Given the description of an element on the screen output the (x, y) to click on. 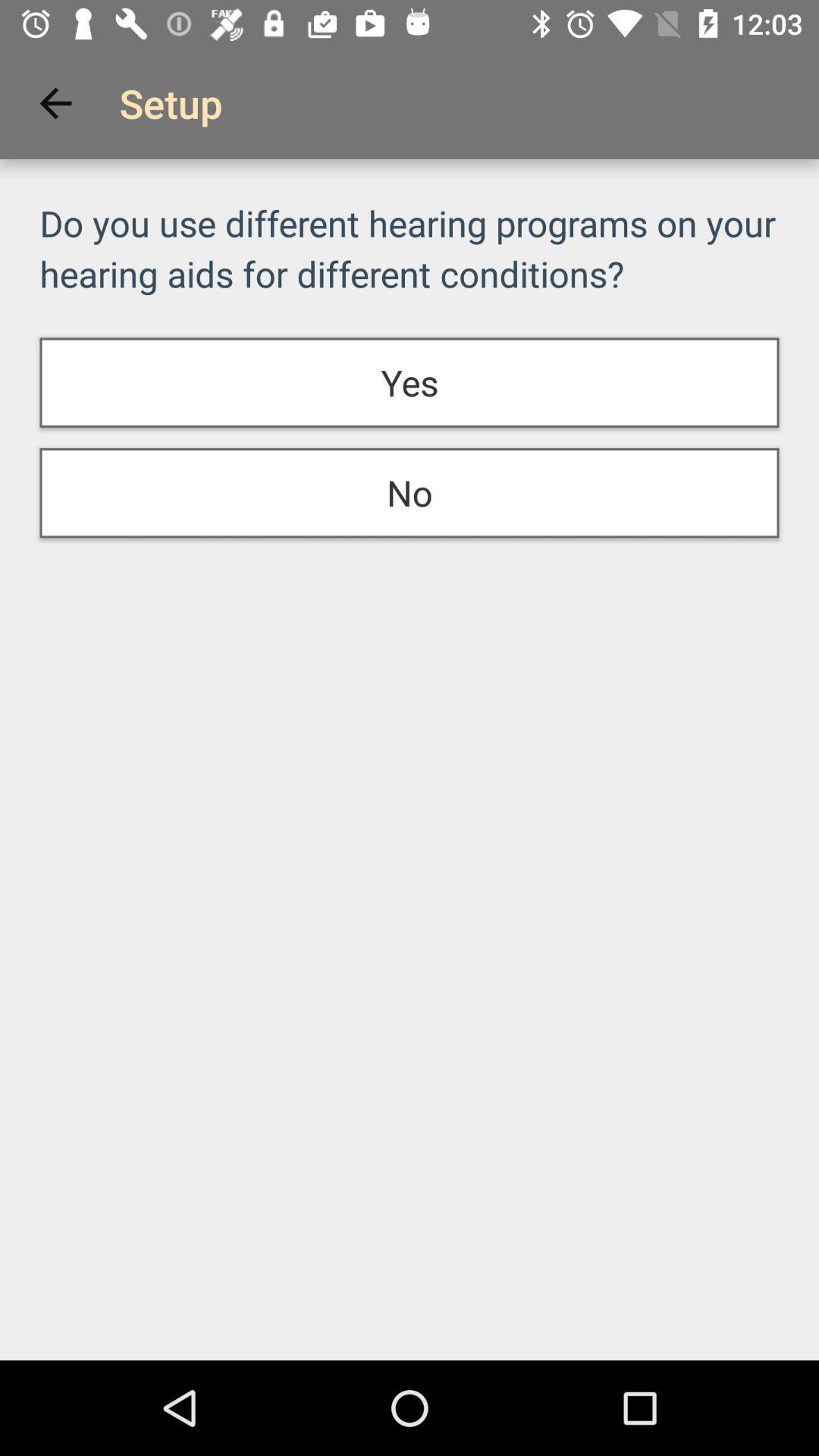
click item below do you use item (409, 382)
